Given the description of an element on the screen output the (x, y) to click on. 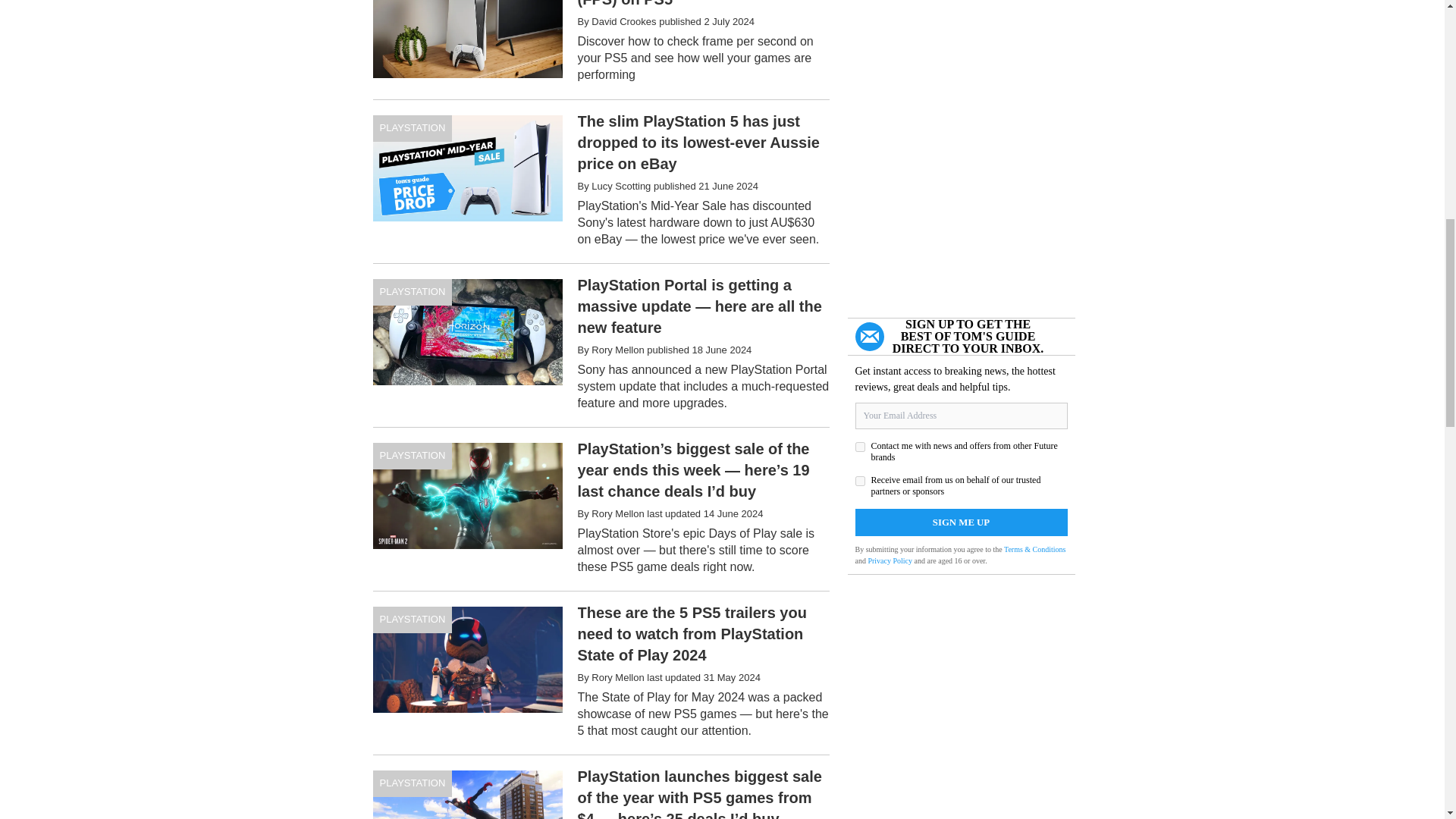
Sign me up (961, 522)
on (860, 447)
on (860, 480)
